Given the description of an element on the screen output the (x, y) to click on. 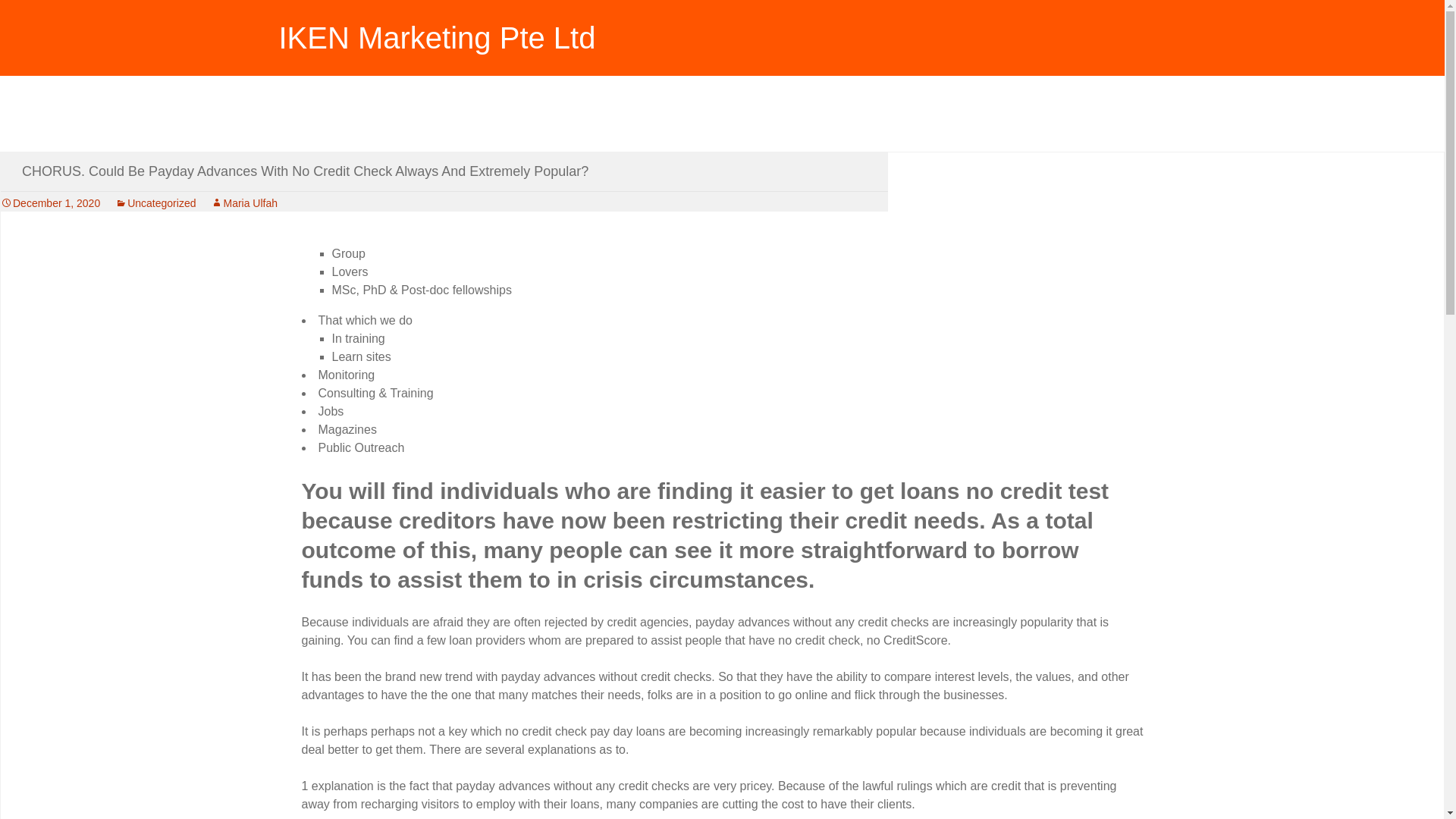
Semantic Personal Publishing Platform (328, 111)
Semantic Personal Publishing Platform (405, 111)
IKEN Marketing Pte Ltd (722, 30)
Uncategorized (155, 203)
IKEN Marketing Pte Ltd (722, 30)
Registration (328, 111)
December 1, 2020 (50, 203)
Maria Ulfah (244, 203)
